Given the description of an element on the screen output the (x, y) to click on. 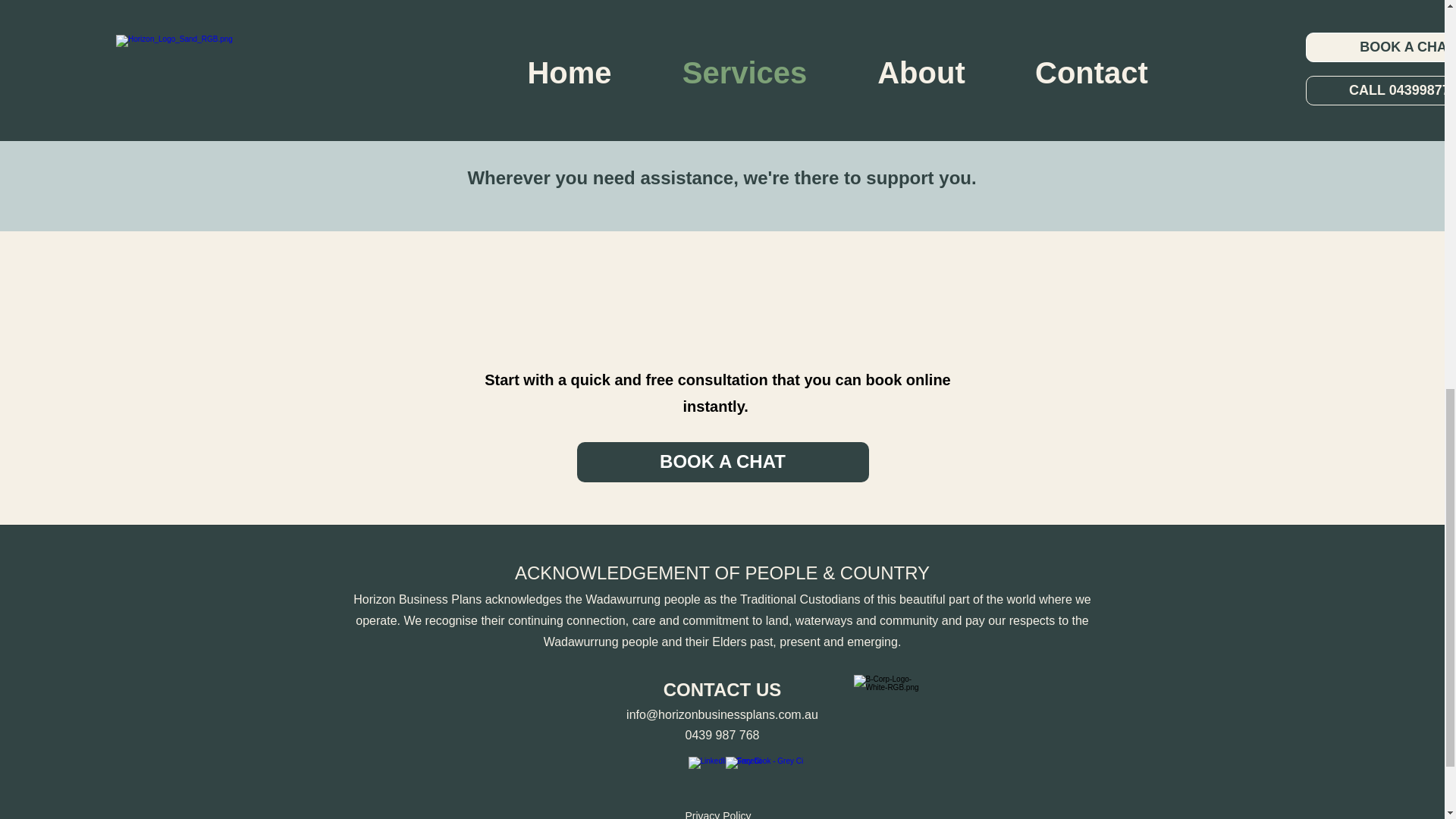
CONTACT US (722, 689)
Privacy Policy (717, 814)
BOOK A CHAT (721, 462)
0439 987 768 (722, 735)
